Given the description of an element on the screen output the (x, y) to click on. 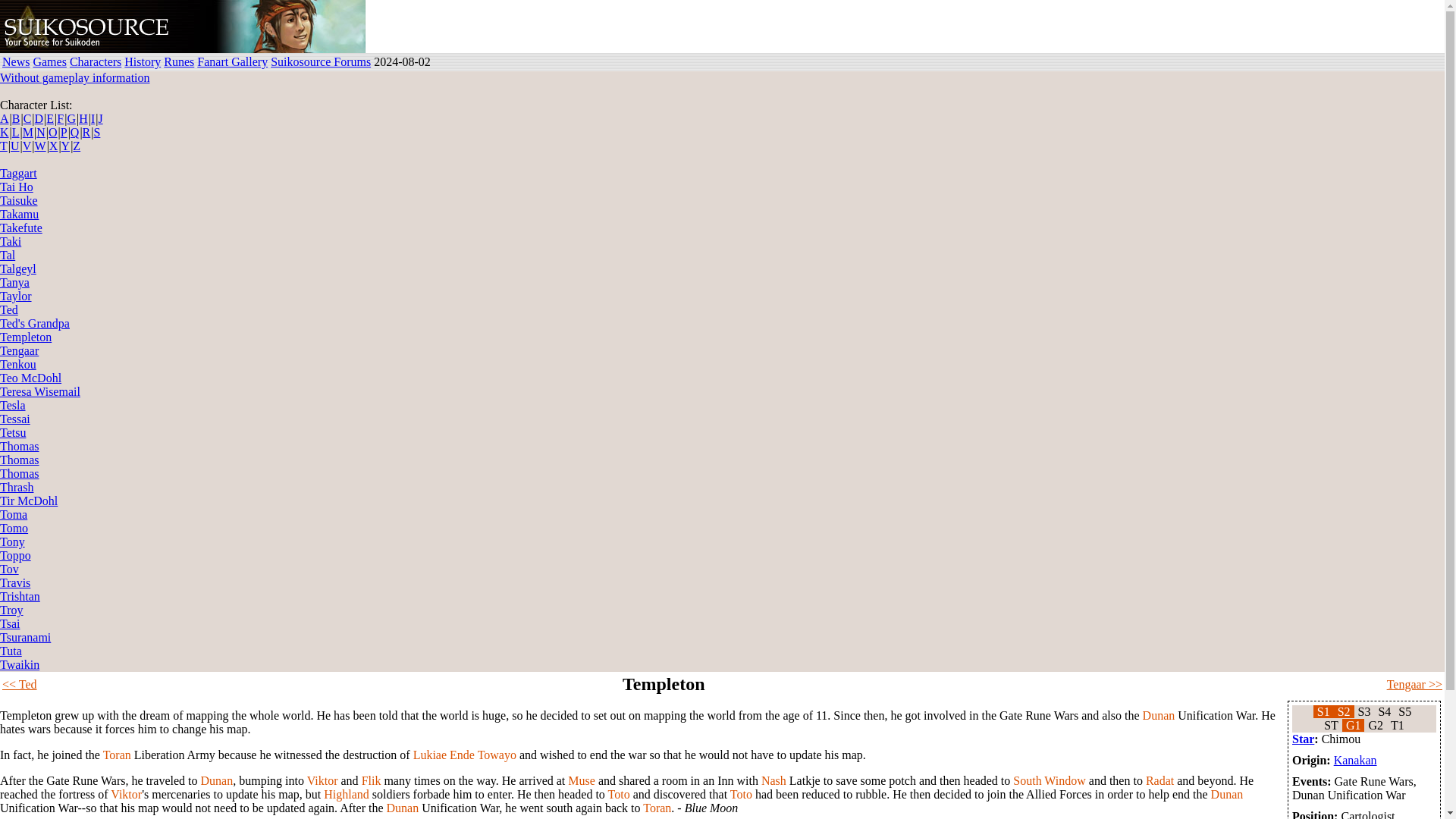
Games (48, 61)
Adrienne the blacksmith (289, 26)
Takamu (19, 214)
Runes (178, 61)
Suikosource Forums (320, 61)
Tai Ho (16, 186)
Fanart Gallery (231, 61)
Takefute (21, 227)
Without gameplay information (74, 77)
News (15, 61)
Taggart (18, 173)
Characters (94, 61)
Taisuke (18, 200)
History (141, 61)
